Given the description of an element on the screen output the (x, y) to click on. 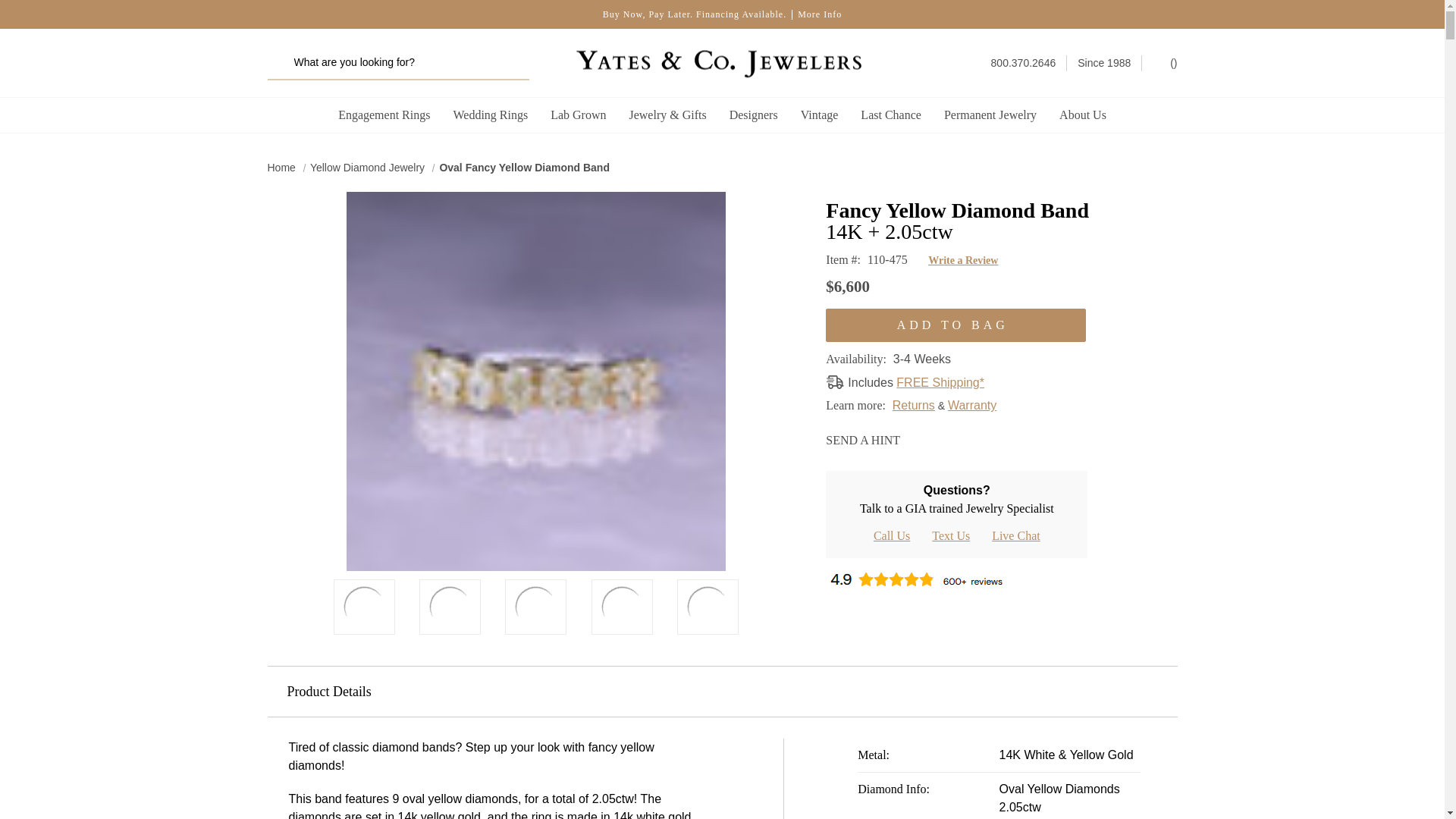
More Info (819, 14)
Pinterest (968, 438)
Email (916, 438)
Facebook (942, 438)
ADD TO BAG  (955, 325)
Lab Grown (577, 114)
Oval Fancy Yellow Diamond Band (363, 606)
Oval Fancy Yellow Diamond Band (449, 606)
800.370.2646 (1024, 61)
